Given the description of an element on the screen output the (x, y) to click on. 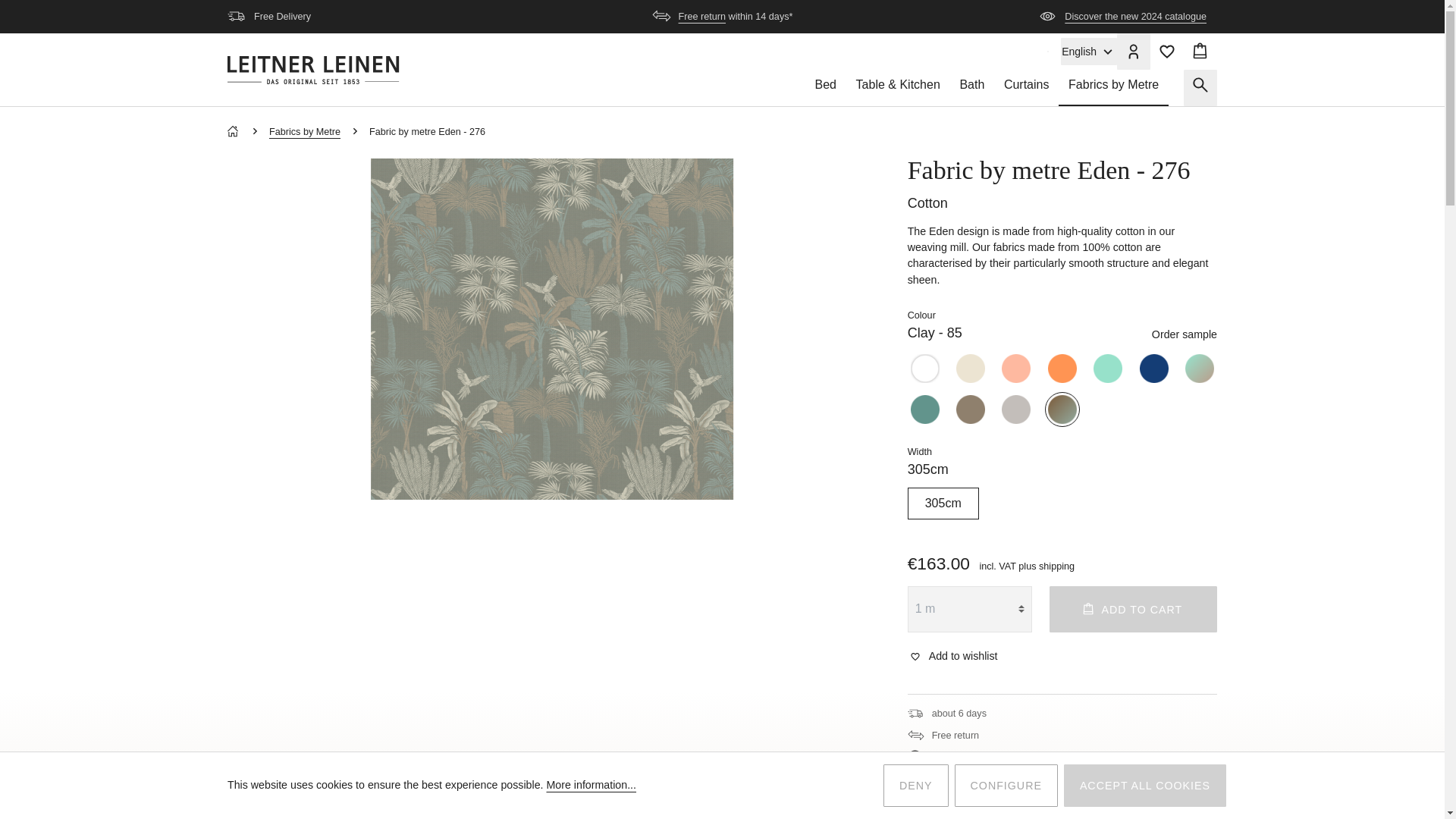
Basket (1200, 51)
Wish List (1166, 51)
Bed (825, 87)
Fabrics by Metre (1113, 87)
My Account (1133, 51)
Free return (701, 16)
Bath (972, 87)
Bath (972, 87)
Curtains (1026, 87)
Language (1088, 51)
Fabrics by Metre (1113, 87)
Go to homepage (312, 70)
Curtains (1026, 87)
Bed (825, 87)
English (1088, 51)
